Given the description of an element on the screen output the (x, y) to click on. 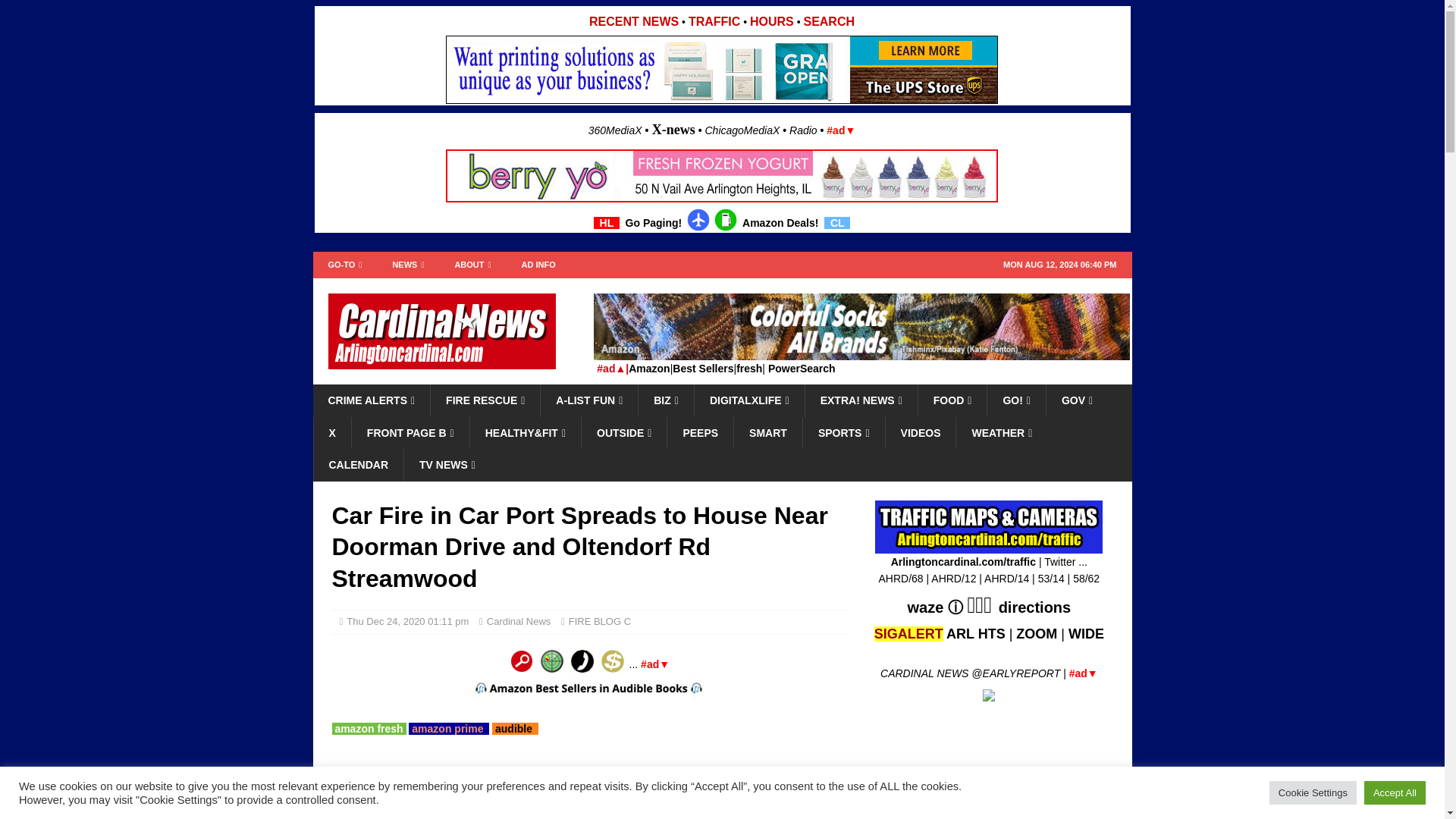
TRAFFIC (713, 21)
360MediaX (616, 130)
Radio (802, 130)
  HL   (607, 223)
SEARCH (828, 21)
RECENT NEWS (633, 21)
Amazon Deals! (780, 223)
HOURS (771, 21)
X-news (673, 129)
  CL   (837, 223)
